Given the description of an element on the screen output the (x, y) to click on. 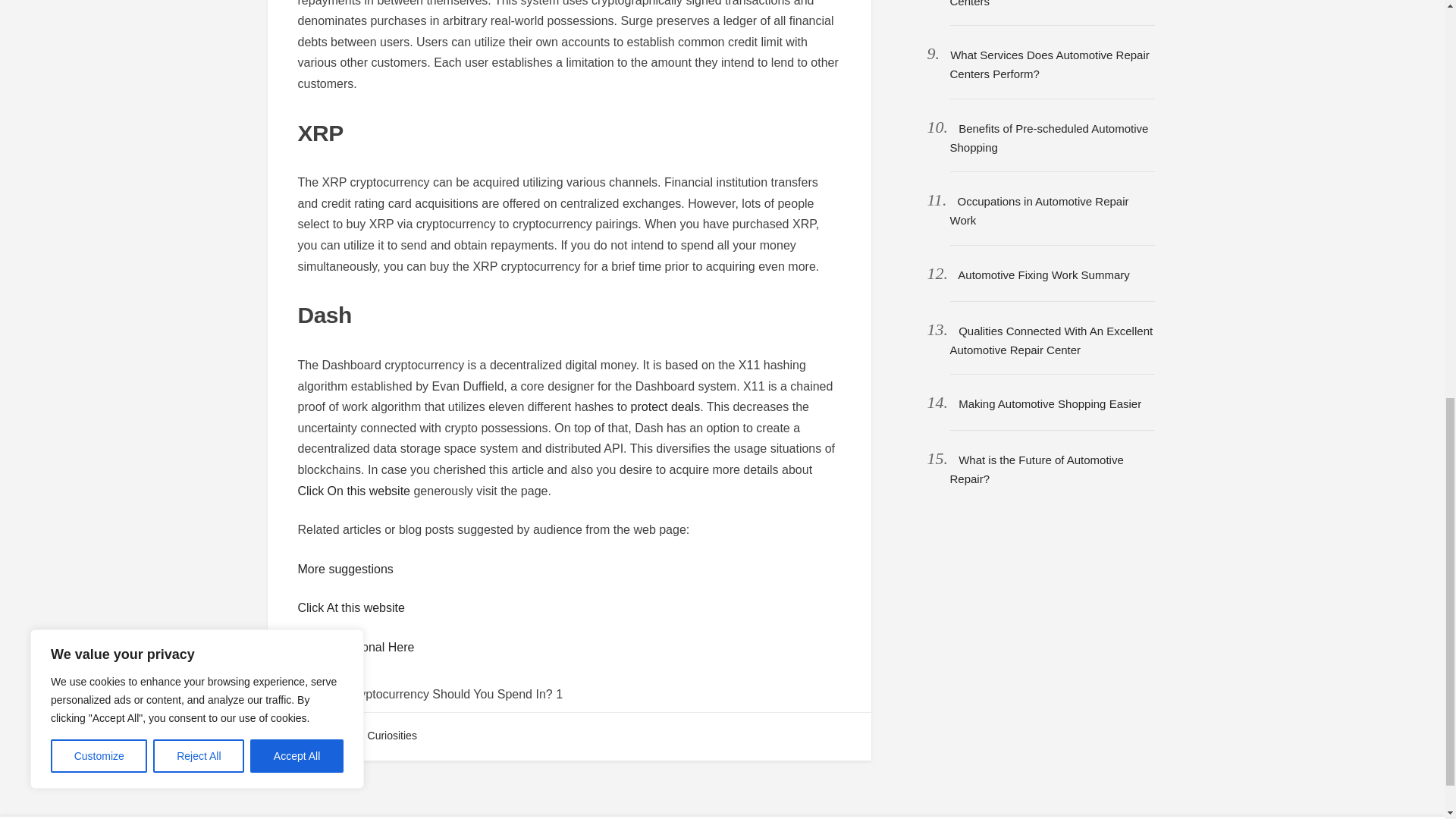
Curiosities (392, 735)
Click On this website (353, 490)
More suggestions (345, 568)
Click At this website (350, 607)
Learn Additional Here (355, 646)
How Much You Need From Auto Repair Centers (1048, 3)
protect deals (665, 406)
General (324, 735)
